Given the description of an element on the screen output the (x, y) to click on. 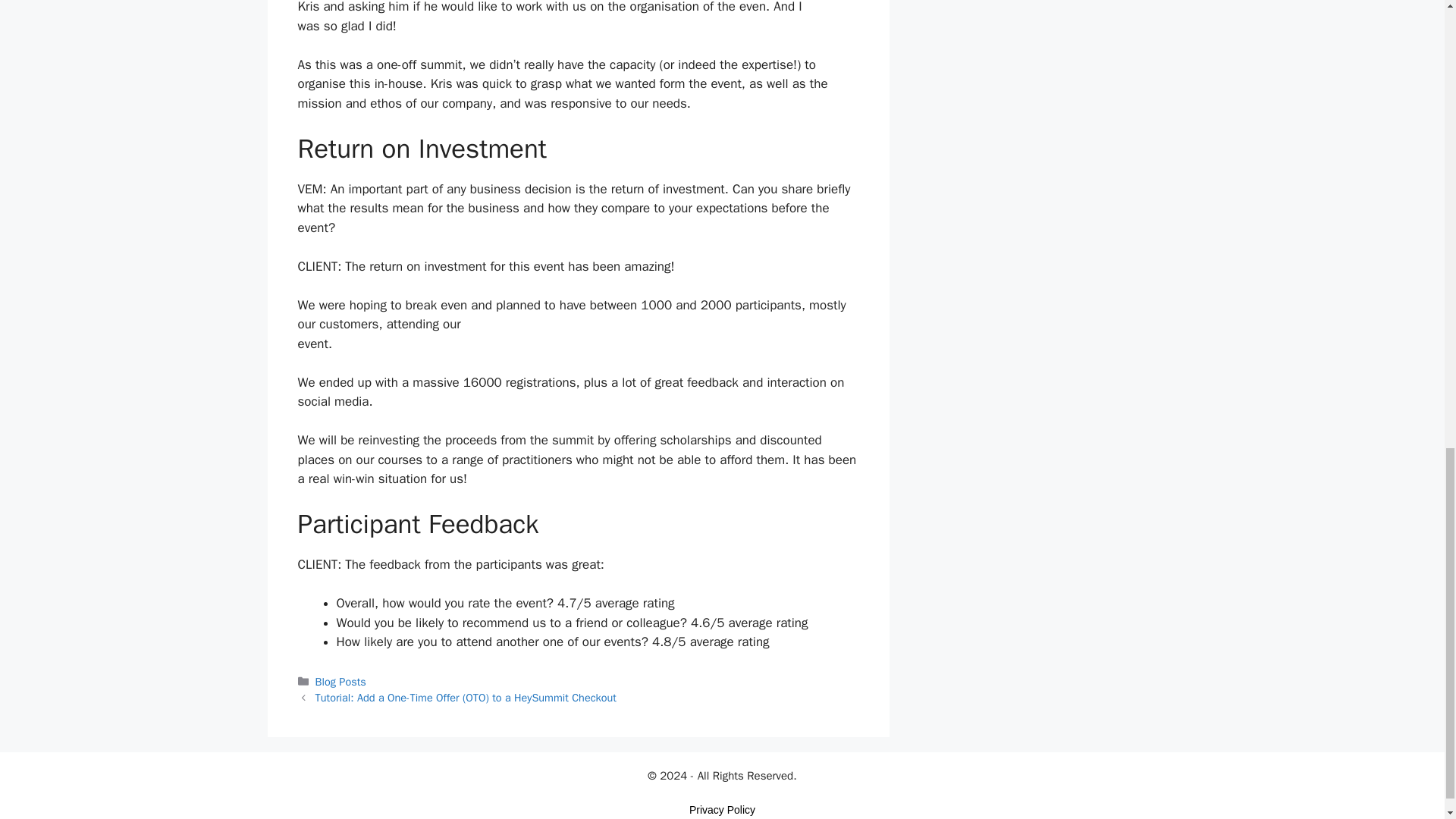
Blog Posts (340, 681)
Privacy Policy (721, 809)
